Given the description of an element on the screen output the (x, y) to click on. 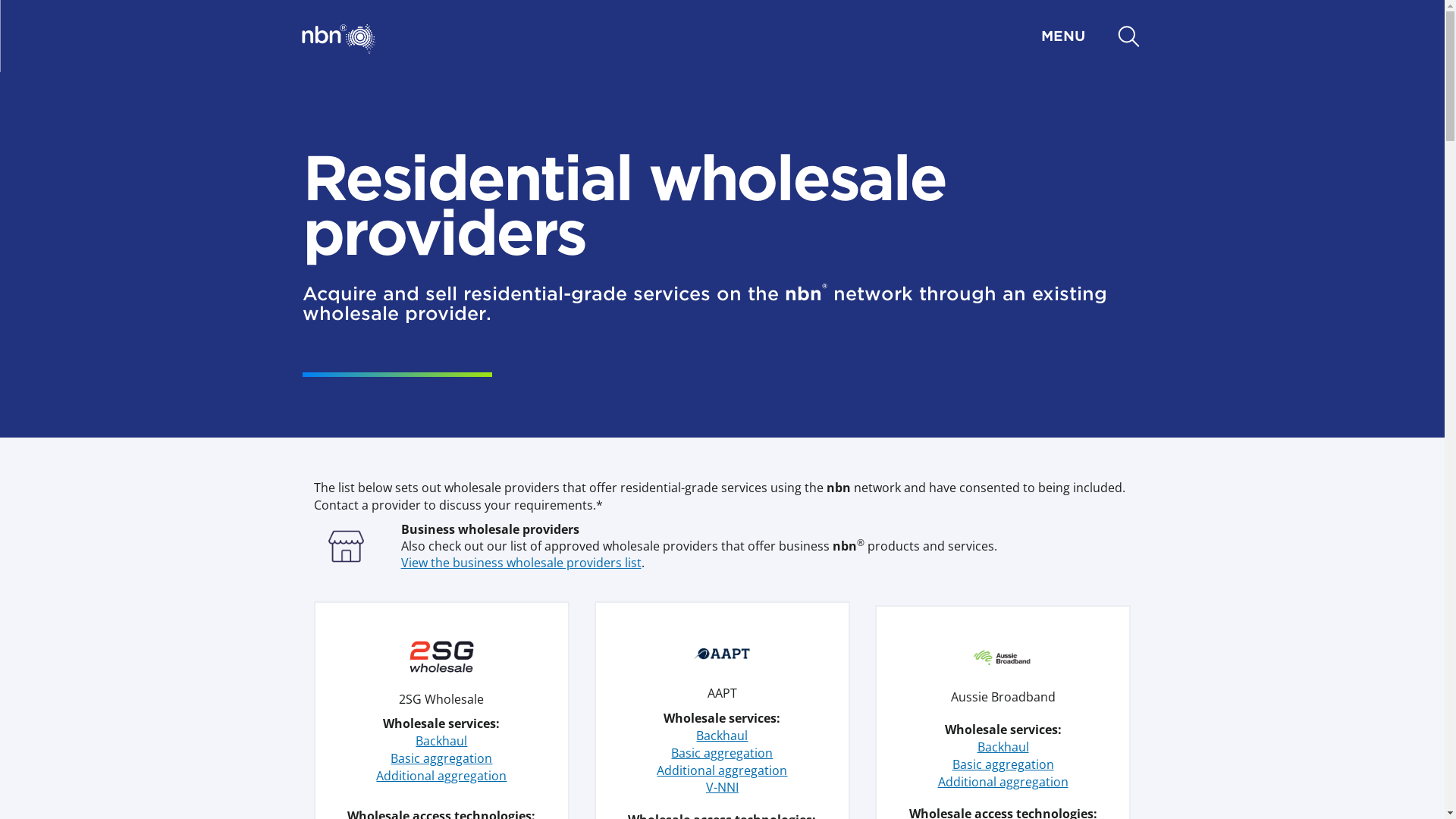
Backhaul Element type: text (1003, 746)
View the business wholesale providers list Element type: text (520, 562)
Additional aggregation Element type: text (1003, 781)
V-NNI Element type: text (722, 786)
Basic aggregation Element type: text (441, 757)
MENU Element type: text (738, 36)
Backhaul Element type: text (721, 735)
Basic aggregation Element type: text (721, 752)
Backhaul Element type: text (441, 740)
Additional aggregation Element type: text (441, 775)
Additional aggregation Element type: text (721, 770)
Basic aggregation Element type: text (1003, 764)
